Given the description of an element on the screen output the (x, y) to click on. 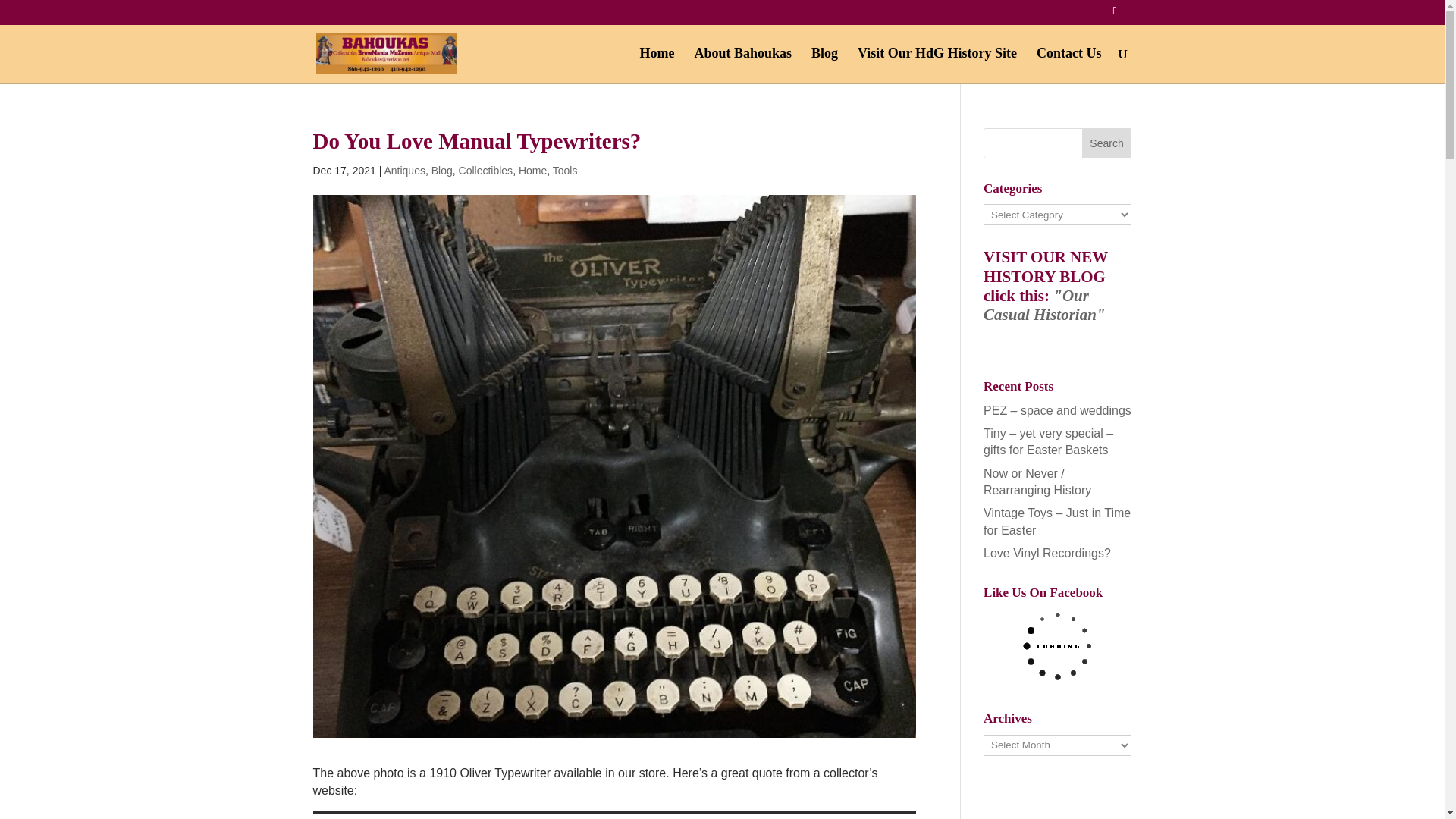
About Bahoukas (743, 65)
Contact Us (1069, 65)
Tools (565, 170)
Visit Our HdG History Site (936, 65)
Search (1106, 142)
Home (656, 65)
Blog (441, 170)
Collectibles (485, 170)
Love Vinyl Recordings? (1047, 553)
"Our Casual Historian" (1044, 304)
